Given the description of an element on the screen output the (x, y) to click on. 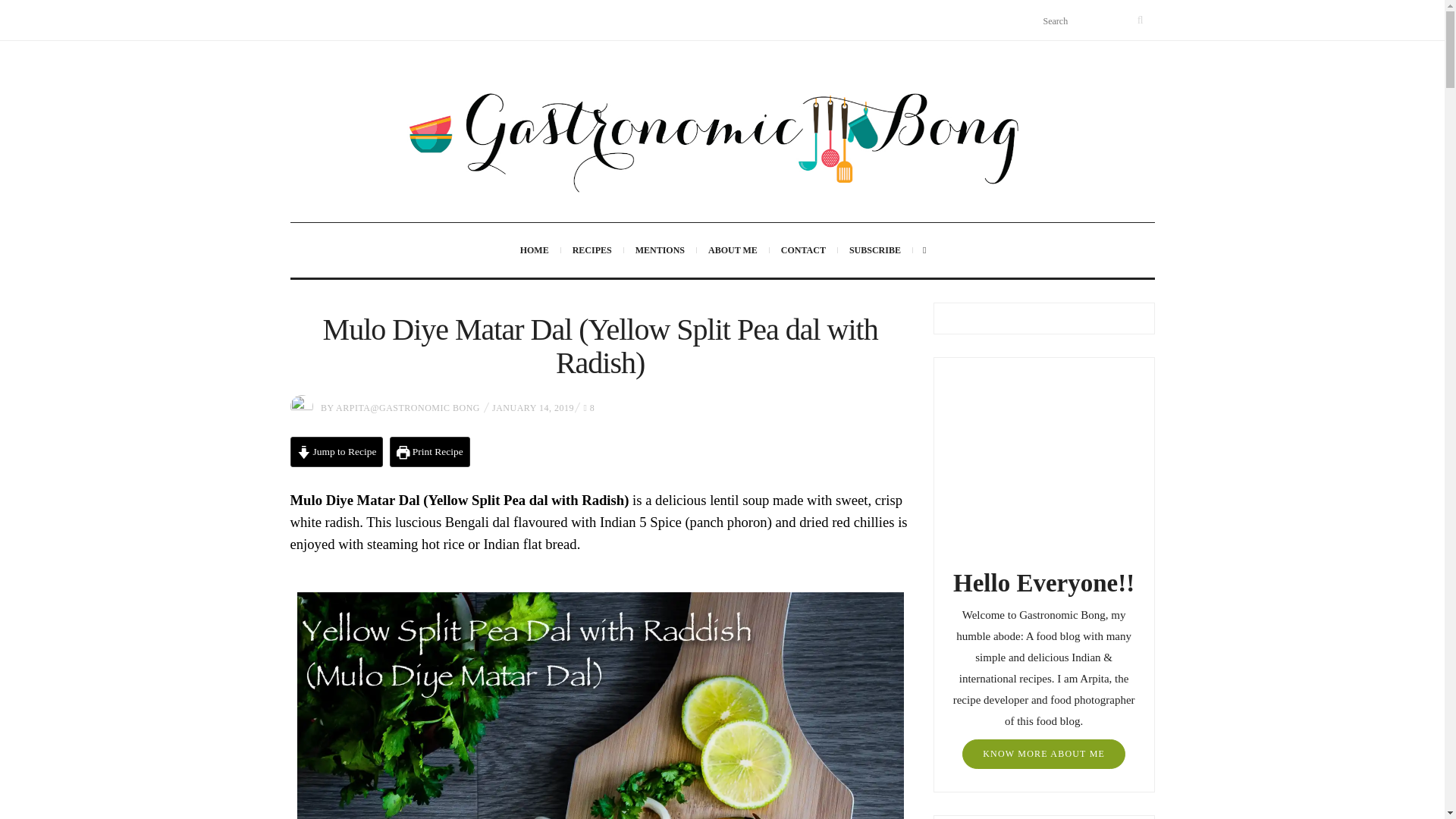
RECIPES (592, 249)
HOME (534, 249)
